Given the description of an element on the screen output the (x, y) to click on. 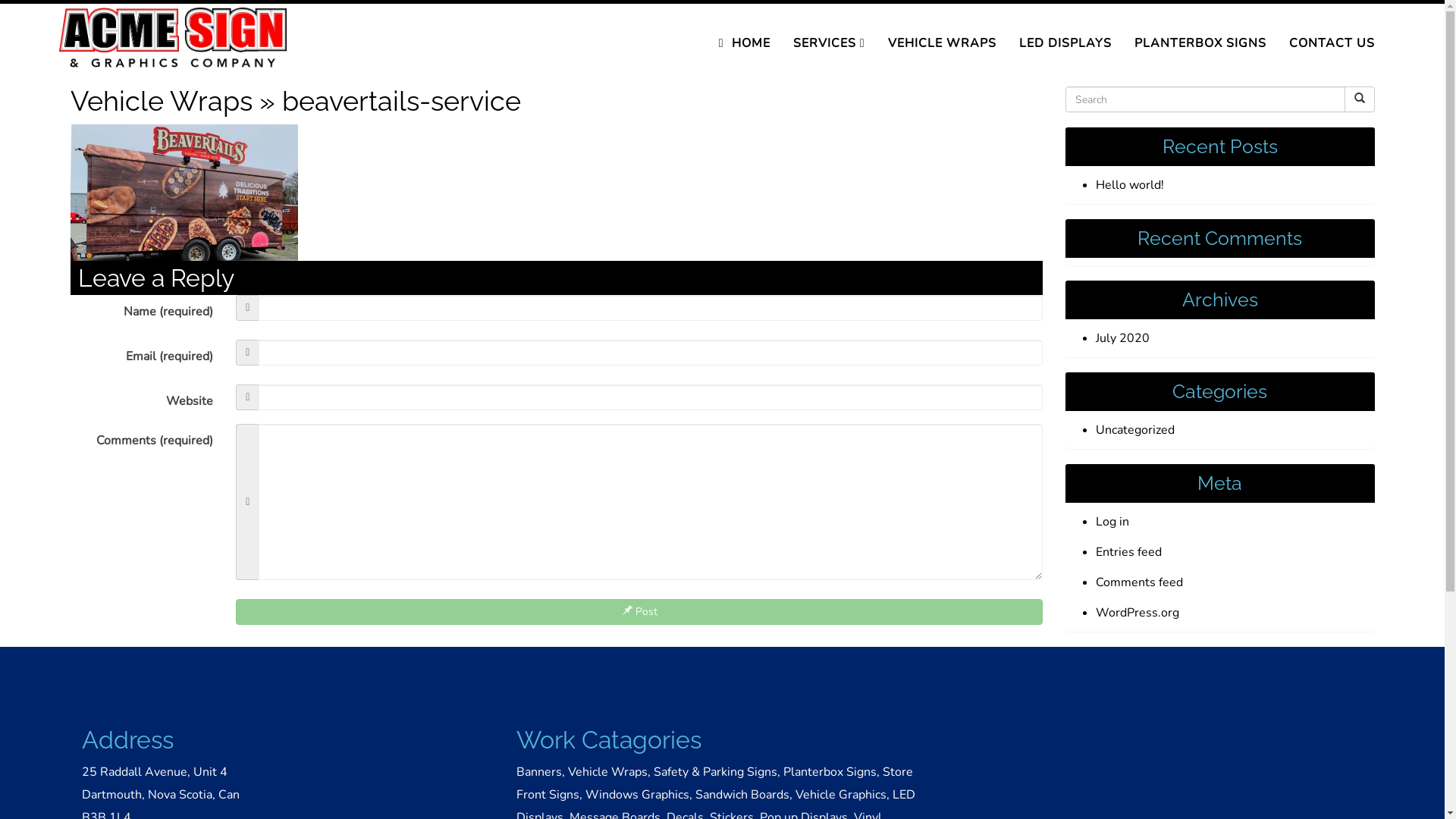
Entries feed Element type: text (1128, 551)
Comments feed Element type: text (1139, 582)
Post Element type: text (638, 611)
WordPress.org Element type: text (1137, 612)
Vehicle Wraps Element type: text (160, 100)
VEHICLE WRAPS Element type: text (941, 43)
 HOME Element type: text (744, 43)
Log in Element type: text (1112, 521)
Hello world! Element type: text (1129, 184)
CONTACT US Element type: text (1331, 43)
July 2020 Element type: text (1122, 337)
SERVICES Element type: text (828, 43)
LED DISPLAYS Element type: text (1064, 43)
Uncategorized Element type: text (1134, 429)
PLANTERBOX SIGNS Element type: text (1199, 43)
